Given the description of an element on the screen output the (x, y) to click on. 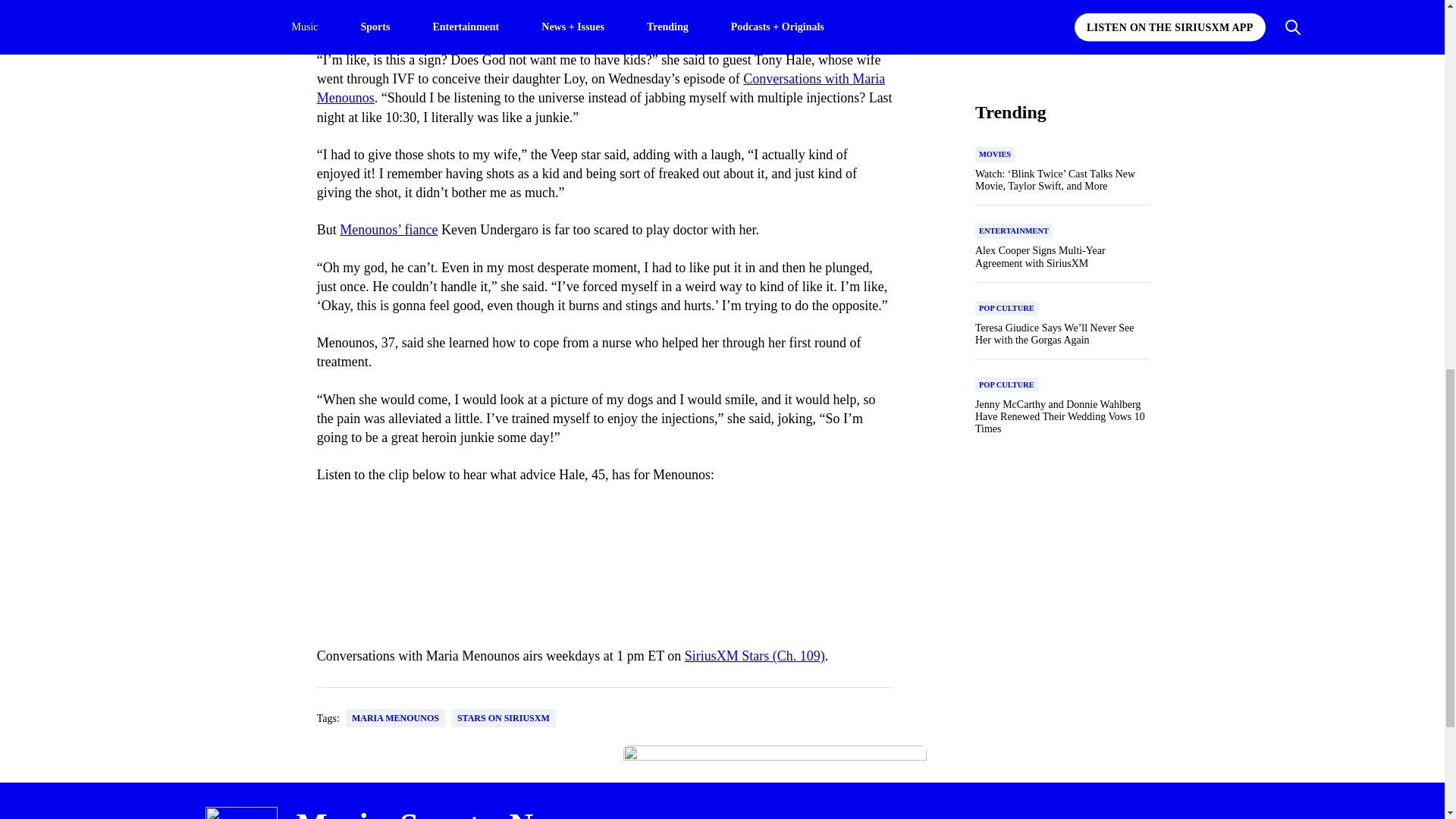
STARS ON SIRIUSXM (503, 718)
Conversations with Maria Menounos (601, 88)
MARIA MENOUNOS (395, 718)
